Given the description of an element on the screen output the (x, y) to click on. 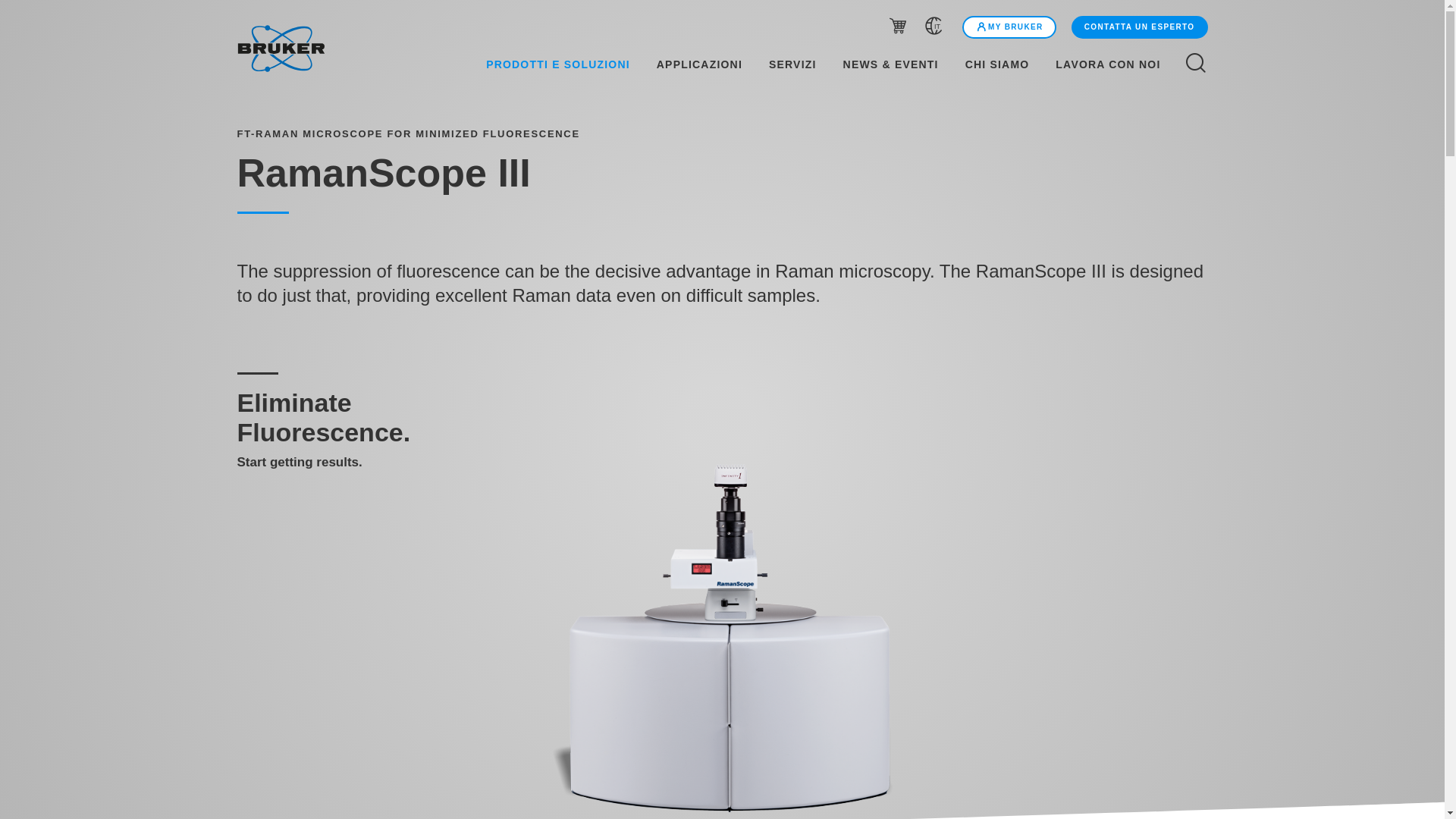
CHI SIAMO (996, 64)
MY BRUKER (1009, 26)
LAVORA CON NOI (1116, 64)
PRODOTTI E SOLUZIONI (548, 64)
CONTATTA UN ESPERTO (1137, 27)
SERVIZI (793, 64)
APPLICAZIONI (698, 64)
CONTATTA UN ESPERTO (1139, 26)
